Given the description of an element on the screen output the (x, y) to click on. 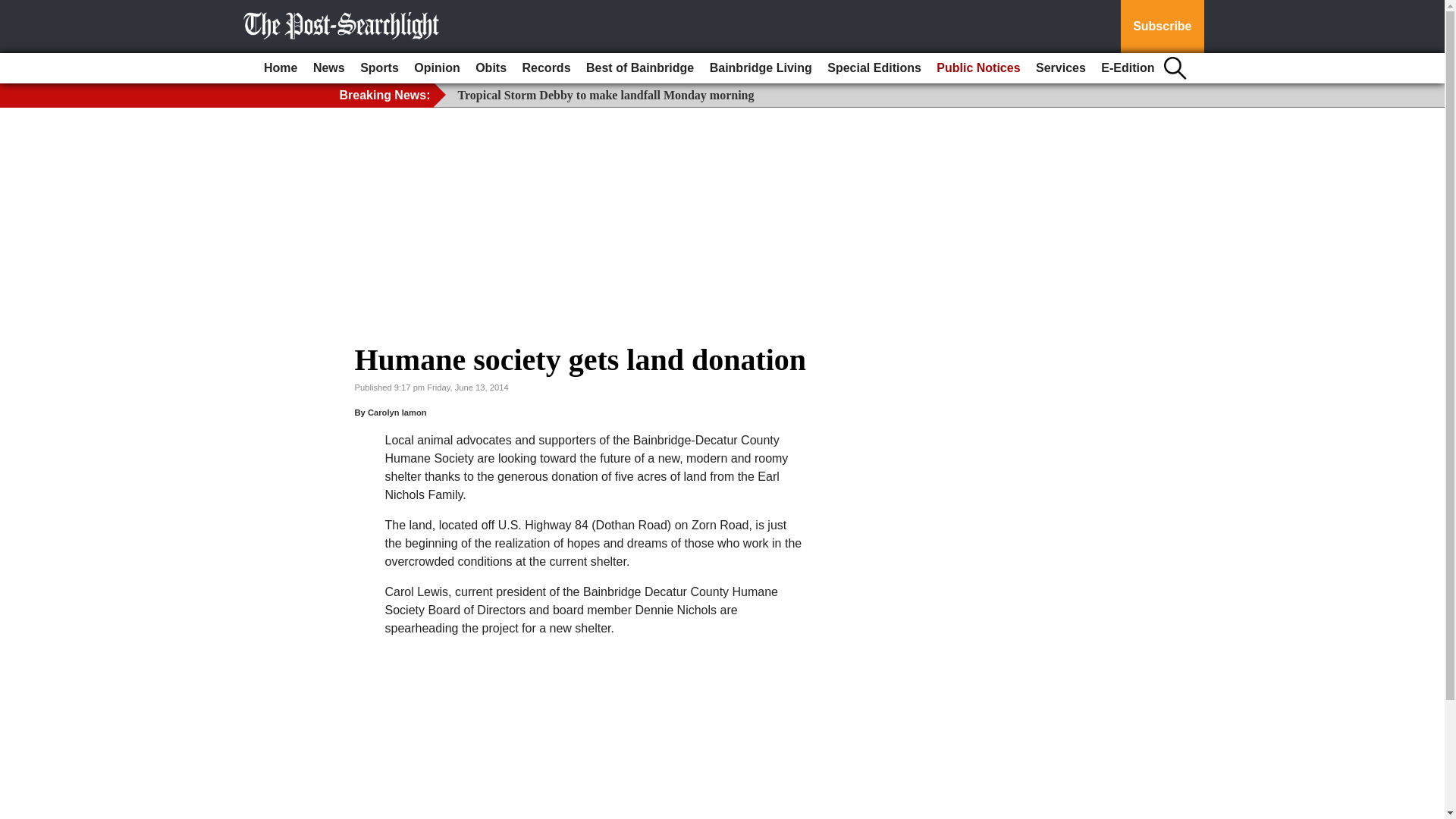
Home (279, 68)
Records (546, 68)
E-Edition (1127, 68)
News (328, 68)
Obits (490, 68)
Services (1060, 68)
Bainbridge Living (760, 68)
Special Editions (874, 68)
Public Notices (978, 68)
Tropical Storm Debby to make landfall Monday morning (606, 94)
Subscribe (1162, 26)
Tropical Storm Debby to make landfall Monday morning (606, 94)
Carolyn Iamon (397, 411)
Opinion (436, 68)
Go (13, 9)
